Given the description of an element on the screen output the (x, y) to click on. 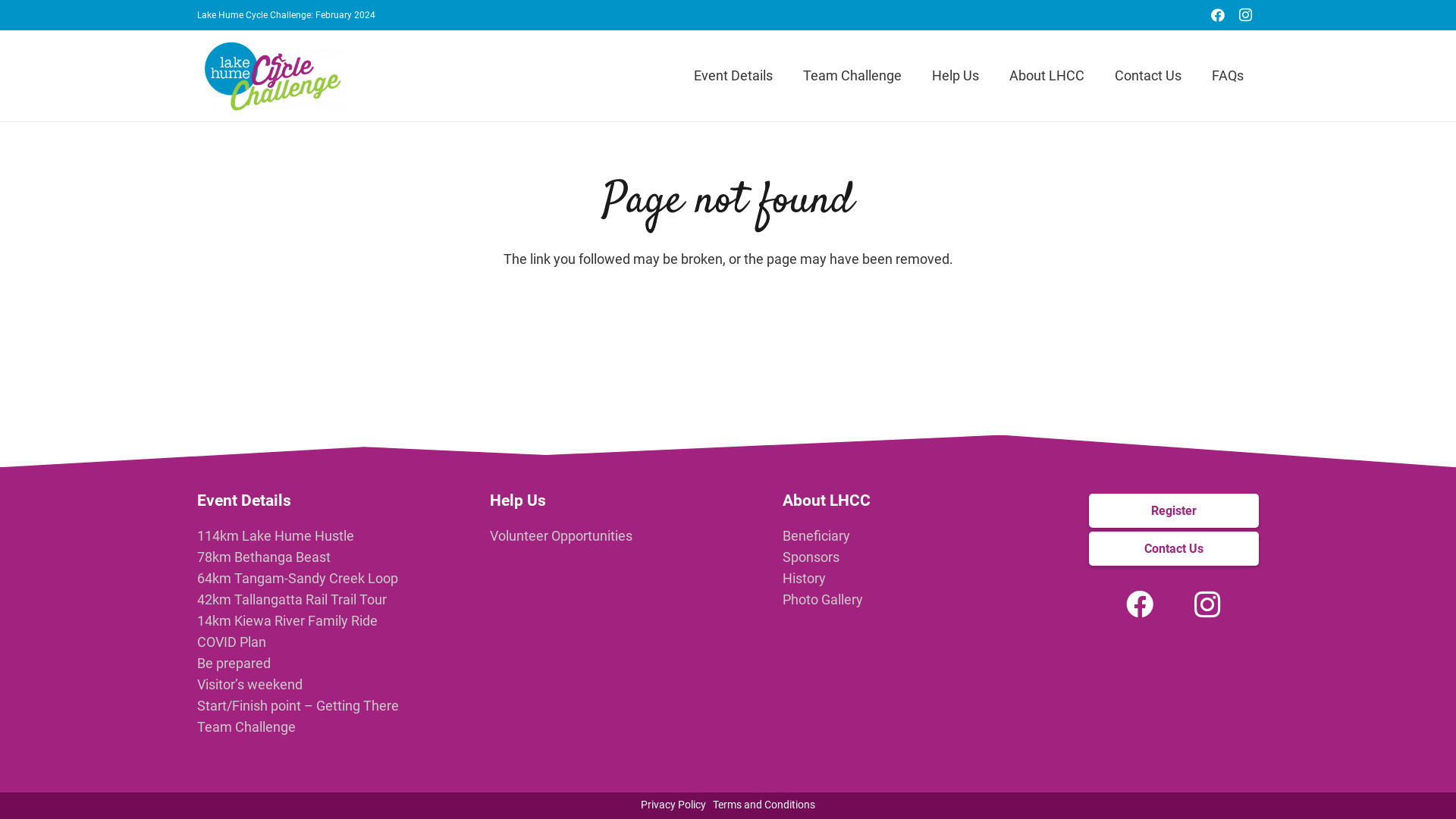
14km Kiewa River Family Ride Element type: text (287, 620)
Privacy Policy Element type: text (673, 804)
Event Details Element type: text (244, 500)
About LHCC Element type: text (826, 500)
Photo Gallery Element type: text (822, 599)
Volunteer Opportunities Element type: text (560, 535)
History Element type: text (803, 578)
Terms and Conditions Element type: text (763, 804)
Beneficiary Element type: text (816, 535)
Contact Us Element type: text (1173, 548)
Be prepared Element type: text (233, 663)
About LHCC Element type: text (1046, 75)
Register Element type: text (1173, 510)
Facebook Element type: hover (1139, 604)
Facebook Element type: hover (1217, 14)
Team Challenge Element type: text (246, 726)
114km Lake Hume Hustle Element type: text (275, 535)
Instagram Element type: hover (1207, 604)
Contact Us Element type: text (1147, 75)
Instagram Element type: hover (1244, 14)
Sponsors Element type: text (810, 556)
42km Tallangatta Rail Trail Tour Element type: text (291, 599)
Help Us Element type: text (955, 75)
FAQs Element type: text (1227, 75)
64km Tangam-Sandy Creek Loop Element type: text (297, 578)
Event Details Element type: text (732, 75)
78km Bethanga Beast Element type: text (263, 556)
COVID Plan Element type: text (231, 641)
Team Challenge Element type: text (851, 75)
Help Us Element type: text (517, 500)
